Given the description of an element on the screen output the (x, y) to click on. 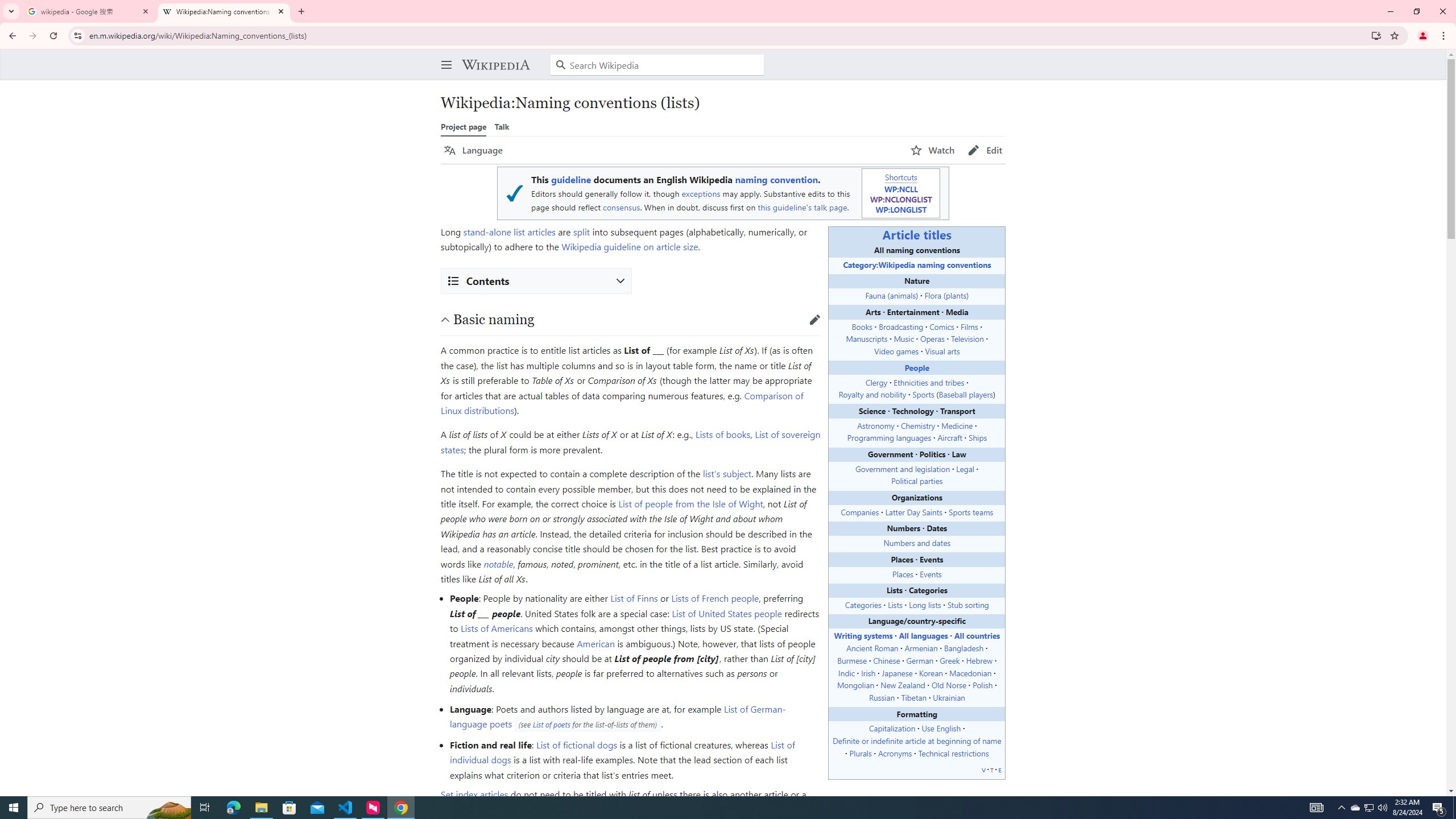
Category:Wikipedia naming conventions (917, 263)
Ancient Roman (871, 647)
Ethnicities and tribes (928, 381)
List of fictional dogs (576, 744)
e (999, 769)
Medicine (956, 424)
Comics (940, 326)
Events (931, 573)
Indic (845, 672)
Wikipedia (495, 64)
Aircraft (949, 437)
New Zealand (903, 684)
Political parties (917, 480)
List of individual dogs (621, 751)
